Given the description of an element on the screen output the (x, y) to click on. 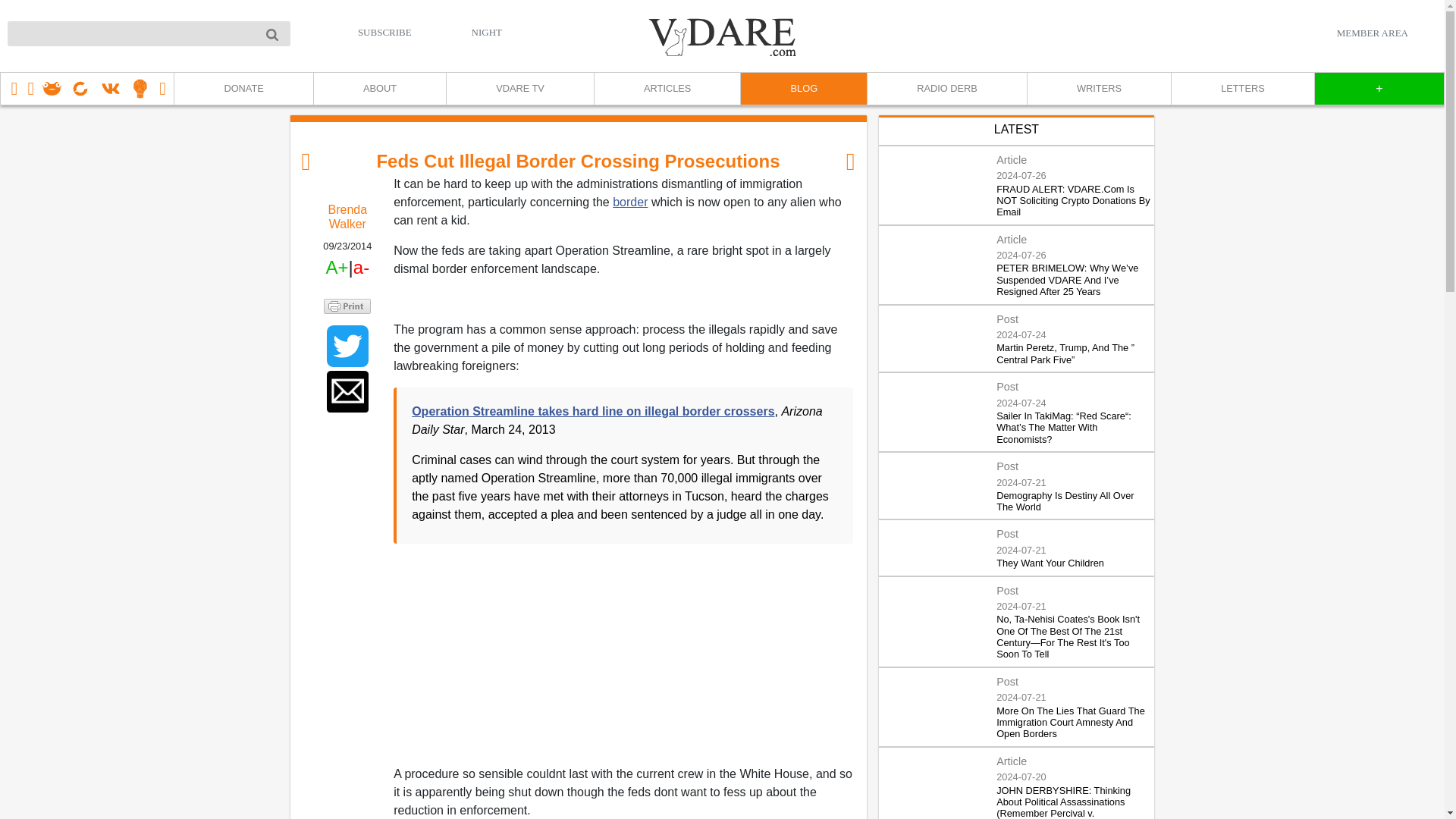
Share to Twitter (347, 345)
MEMBER AREA (1371, 32)
SUBSCRIBE (385, 31)
BLOG (802, 88)
Printer Friendly and PDF (347, 306)
VDARE TV (519, 88)
WRITERS (1098, 88)
Share to Email (347, 391)
DONATE (243, 88)
ARTICLES (666, 88)
